Given the description of an element on the screen output the (x, y) to click on. 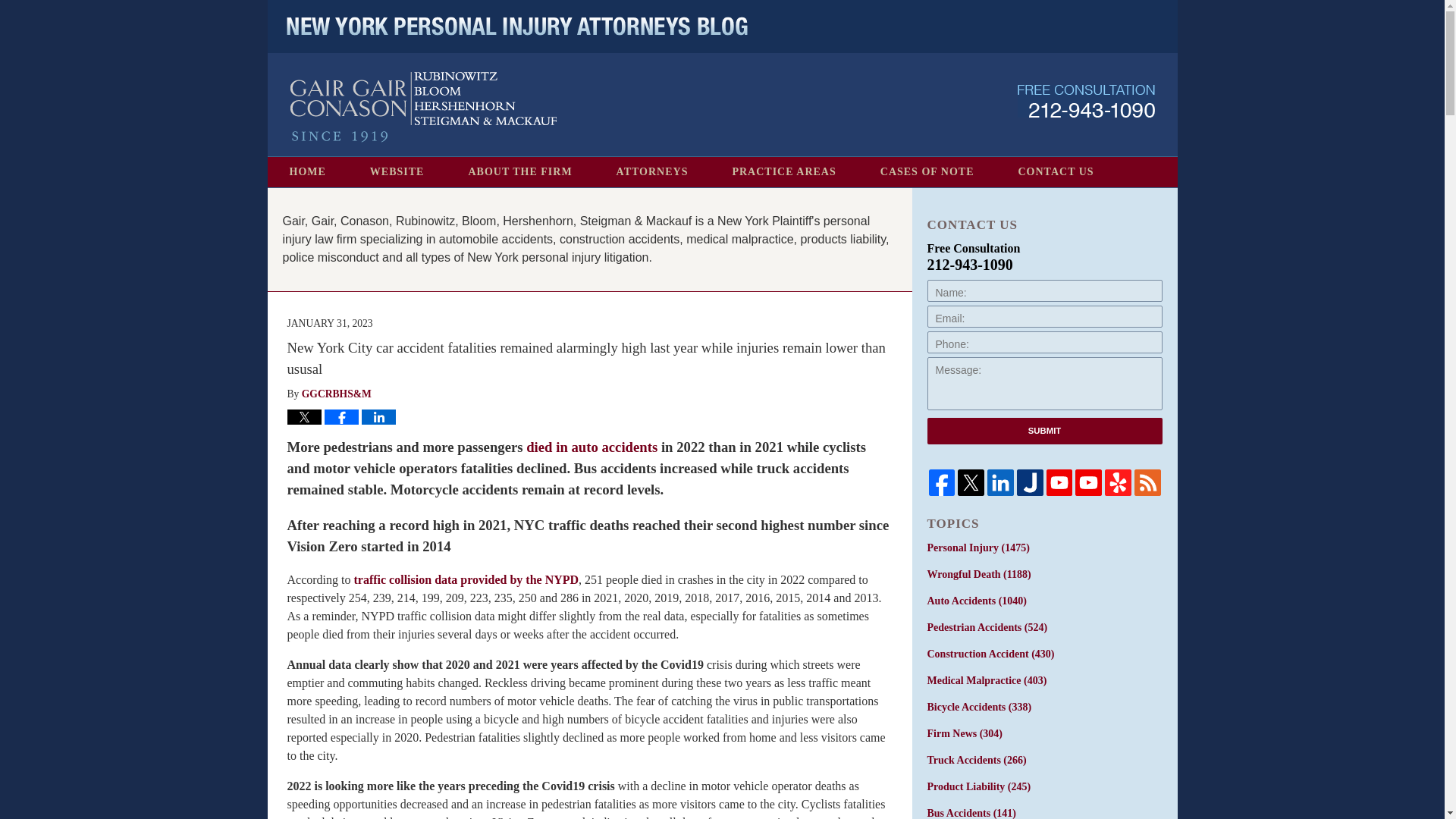
New York Personal Injury Attorneys Blog (422, 107)
died in auto accidents (591, 446)
ABOUT THE FIRM (519, 172)
CONTACT US (1055, 172)
ATTORNEYS (652, 172)
PRACTICE AREAS (783, 172)
CASES OF NOTE (927, 172)
traffic collision data provided by the NYPD (465, 579)
WEBSITE (396, 172)
HOME (306, 172)
